Given the description of an element on the screen output the (x, y) to click on. 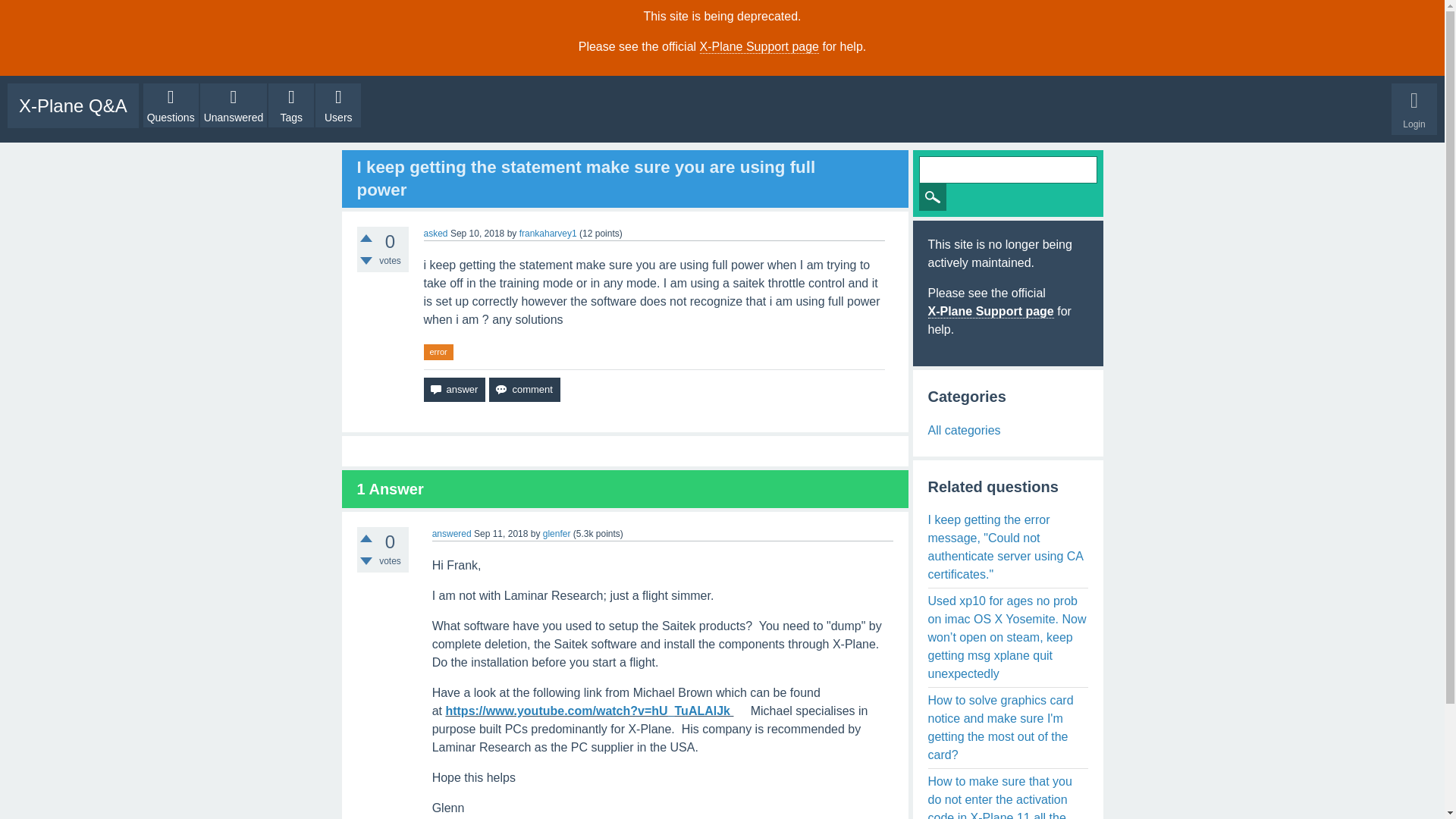
asked (434, 233)
glenfer (556, 533)
frankaharvey1 (547, 233)
Click to vote down (365, 561)
comment (524, 389)
comment (524, 389)
Search (932, 196)
Add a comment on this question (524, 389)
error (437, 351)
Questions (170, 105)
Users (338, 105)
Tags (290, 105)
Search (932, 196)
